Given the description of an element on the screen output the (x, y) to click on. 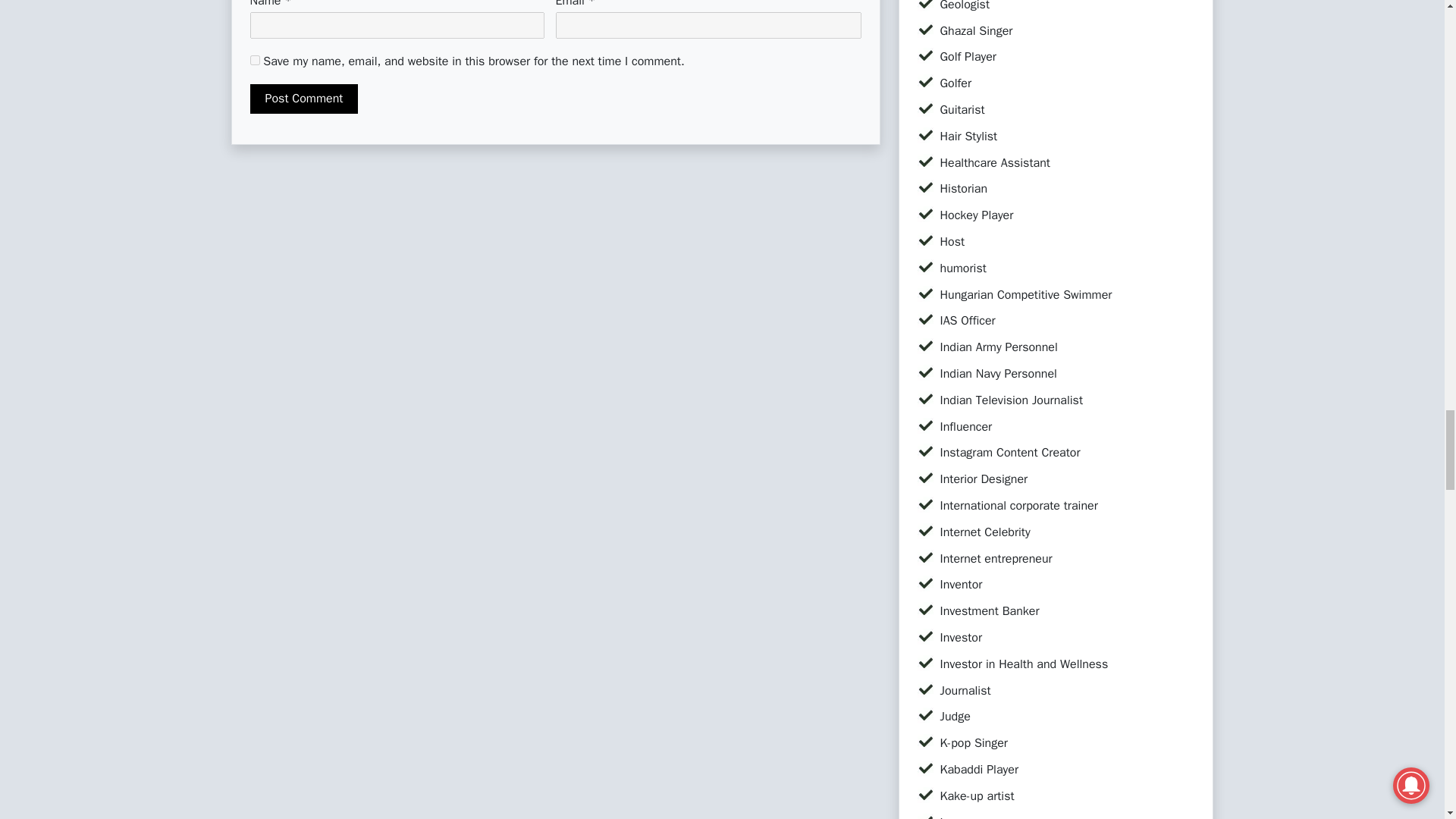
Post Comment (304, 98)
yes (255, 60)
Post Comment (304, 98)
